Given the description of an element on the screen output the (x, y) to click on. 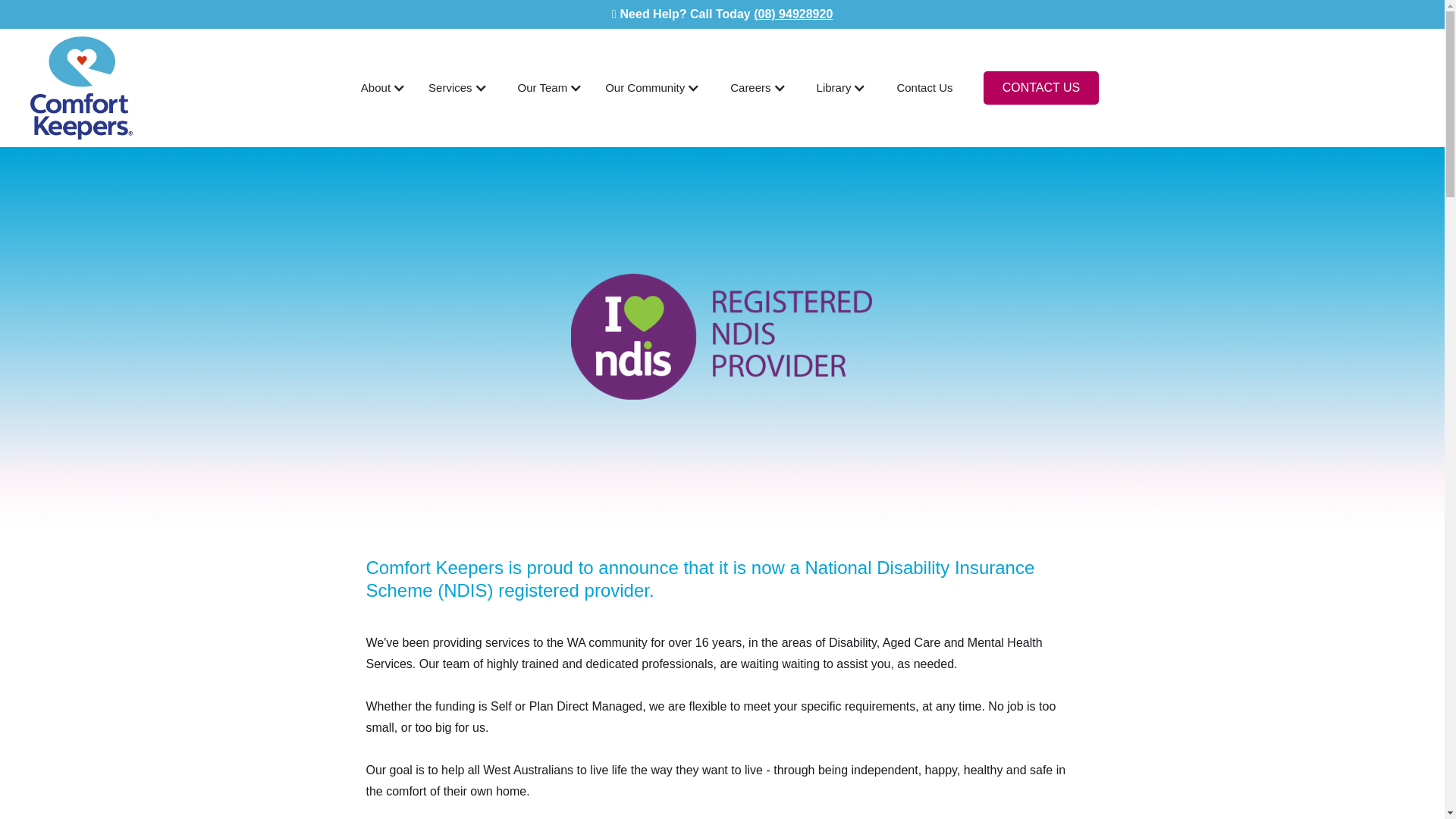
CONTACT US (1041, 87)
Contact Us (924, 87)
